Given the description of an element on the screen output the (x, y) to click on. 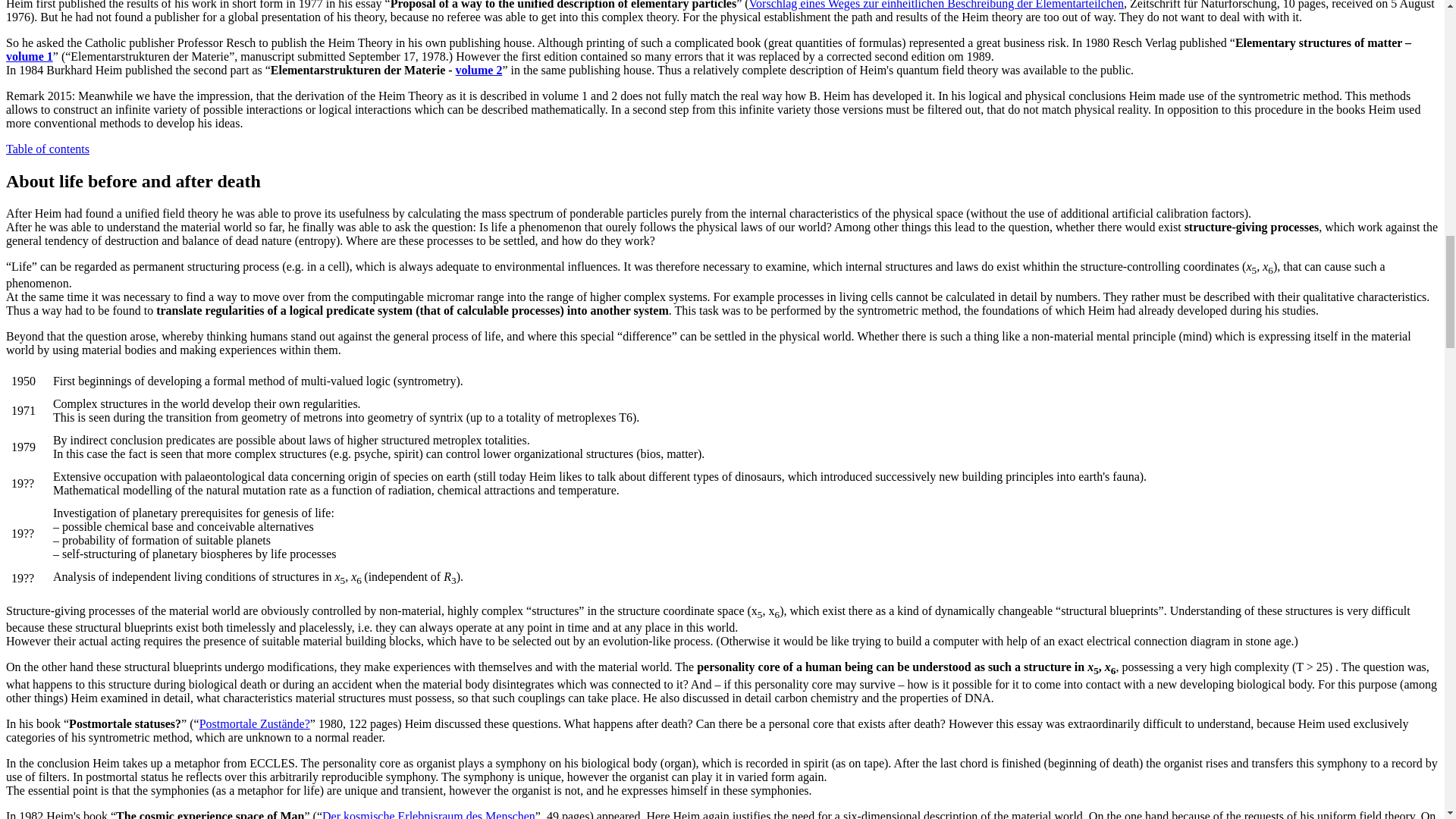
Der kosmische Erlebnisraum des Menschen (428, 814)
Table of contents (46, 148)
volume 2 (478, 69)
volume 1 (28, 56)
